Given the description of an element on the screen output the (x, y) to click on. 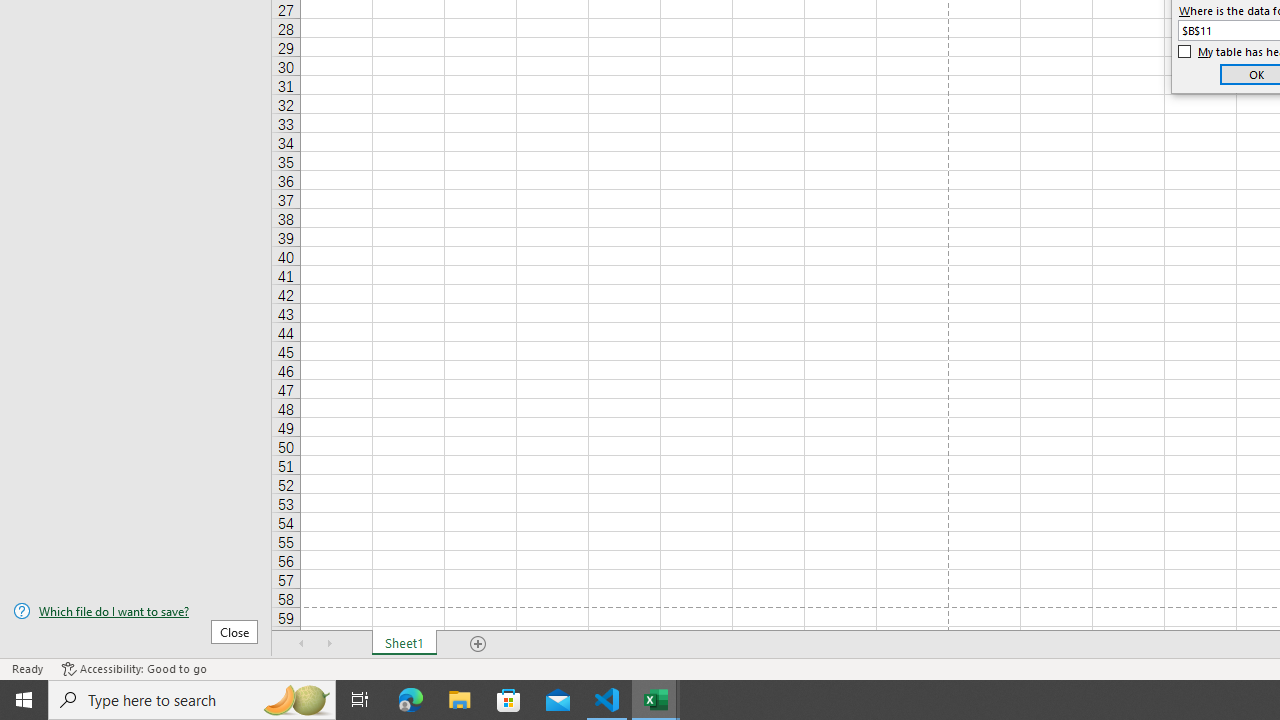
Sheet1 (404, 644)
Scroll Right (330, 644)
Add Sheet (478, 644)
Scroll Left (302, 644)
Which file do I want to save? (136, 611)
Close (234, 631)
Accessibility Checker Accessibility: Good to go (134, 668)
